Given the description of an element on the screen output the (x, y) to click on. 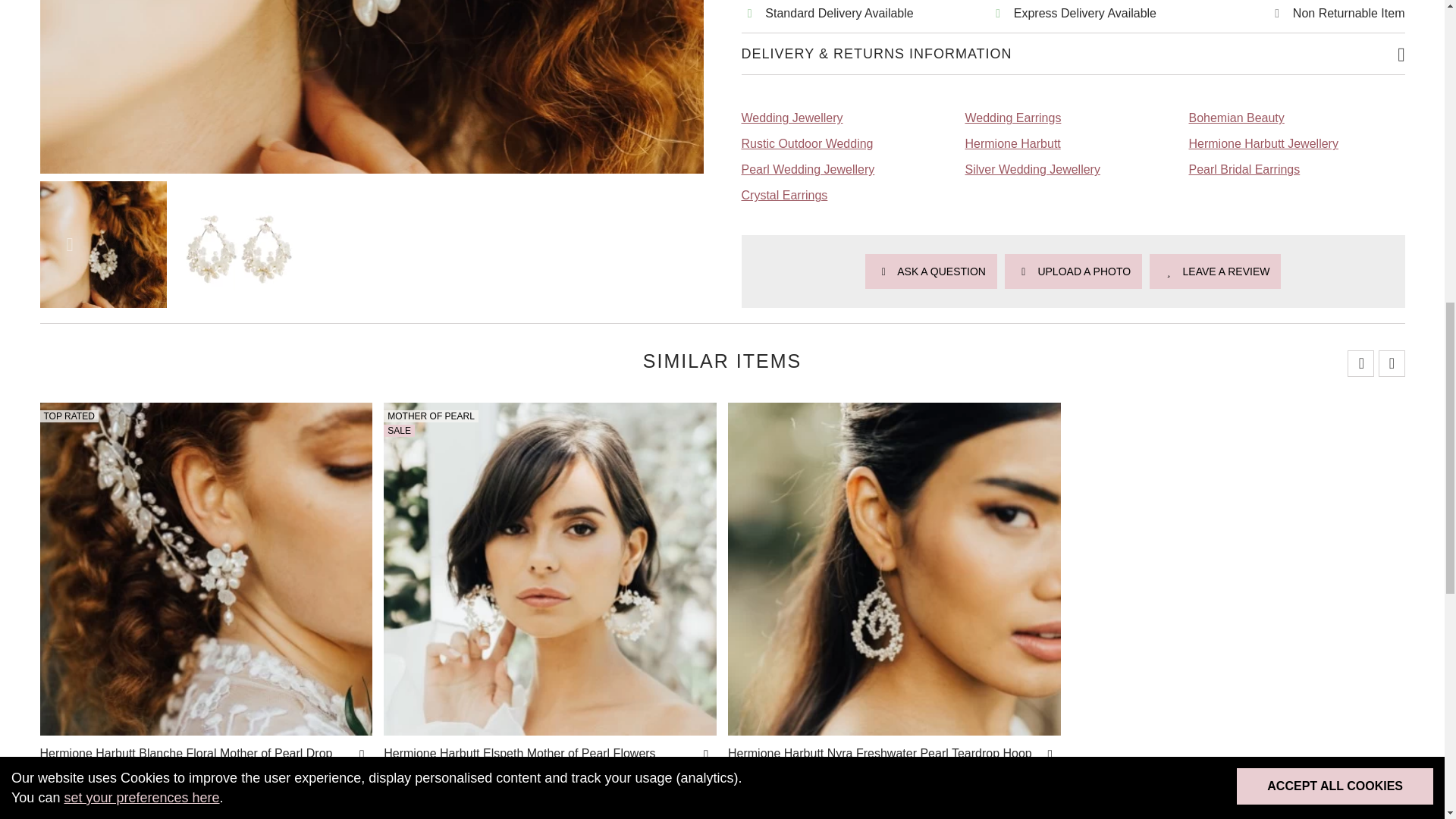
View this product (194, 760)
View this product (539, 760)
View this product in: Silver (747, 815)
View this product (883, 760)
Photograph 2 (237, 153)
View this product in: Silver (403, 815)
View this product in: Gold (389, 815)
View this product in: Gold (733, 815)
